Given the description of an element on the screen output the (x, y) to click on. 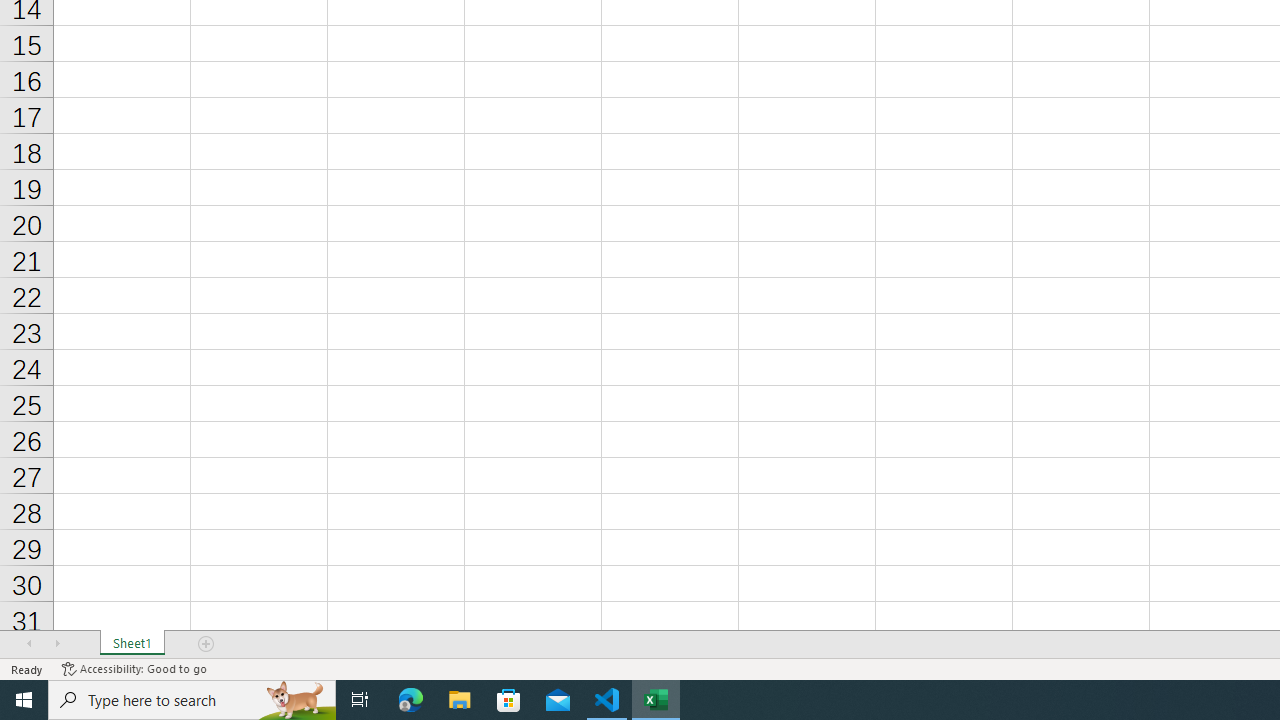
Scroll Left (29, 644)
Scroll Right (57, 644)
Sheet1 (132, 644)
Accessibility Checker Accessibility: Good to go (134, 668)
Add Sheet (207, 644)
